Given the description of an element on the screen output the (x, y) to click on. 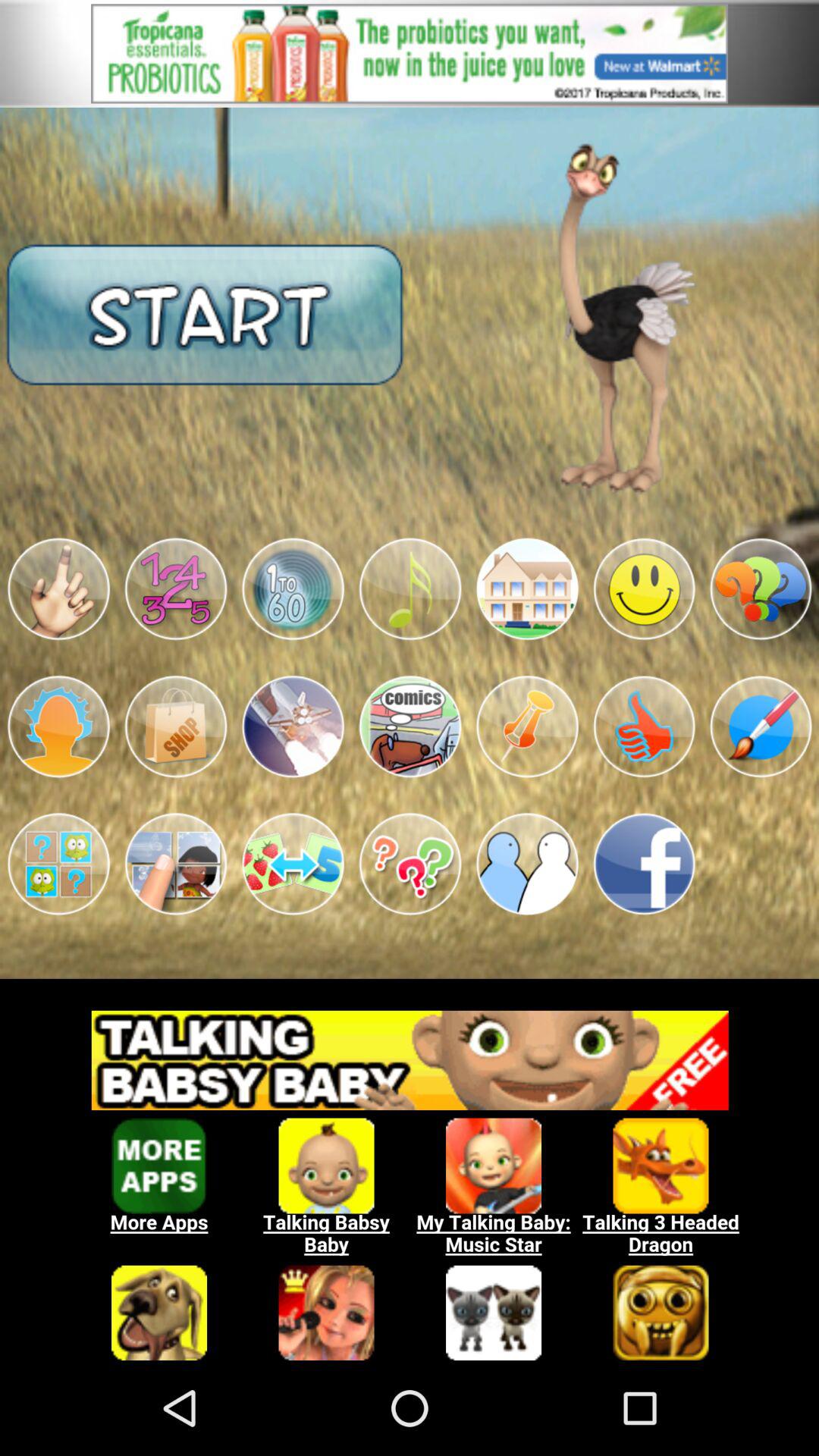
click for similar apps (409, 1177)
